Given the description of an element on the screen output the (x, y) to click on. 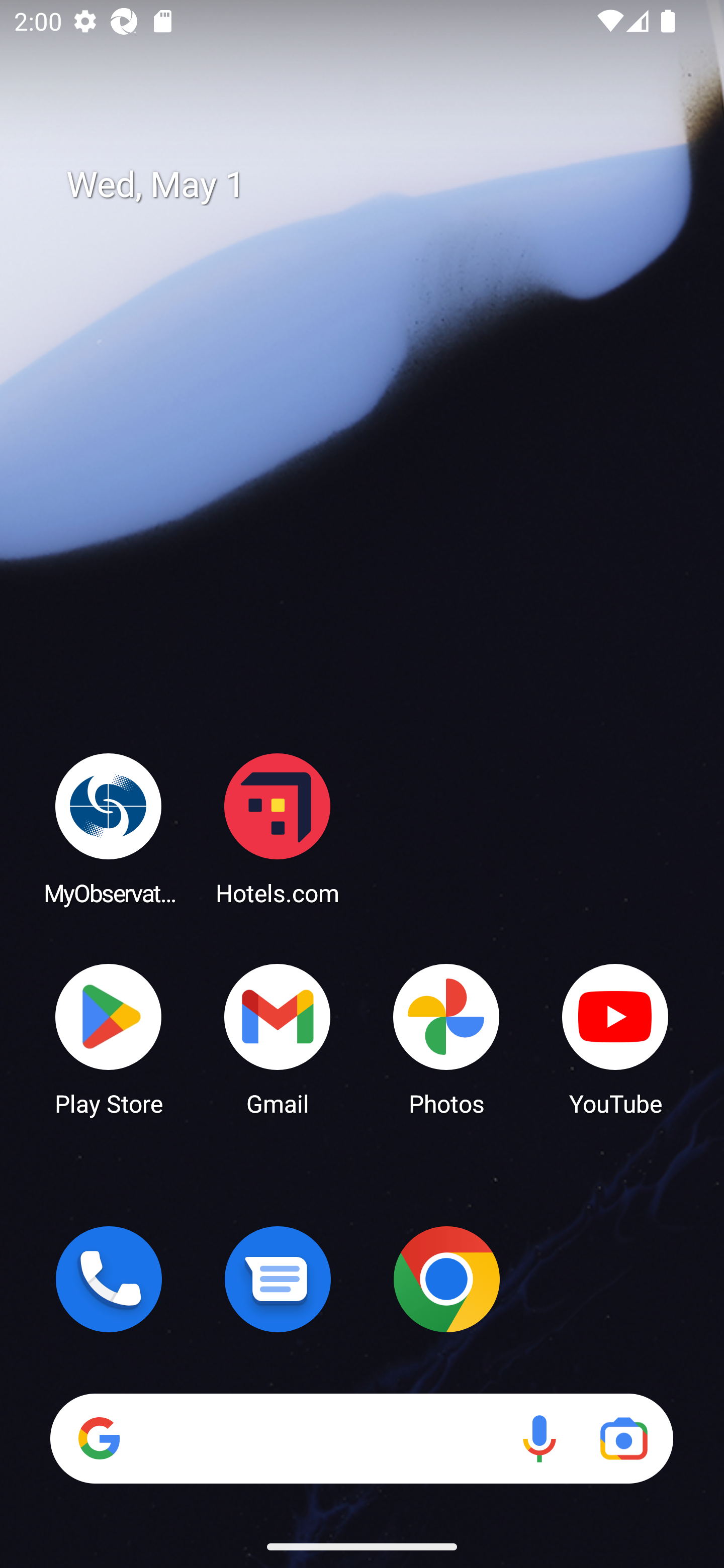
Wed, May 1 (375, 184)
MyObservatory (108, 828)
Hotels.com (277, 828)
Play Store (108, 1038)
Gmail (277, 1038)
Photos (445, 1038)
YouTube (615, 1038)
Phone (108, 1279)
Messages (277, 1279)
Chrome (446, 1279)
Search Voice search Google Lens (361, 1438)
Voice search (539, 1438)
Google Lens (623, 1438)
